Given the description of an element on the screen output the (x, y) to click on. 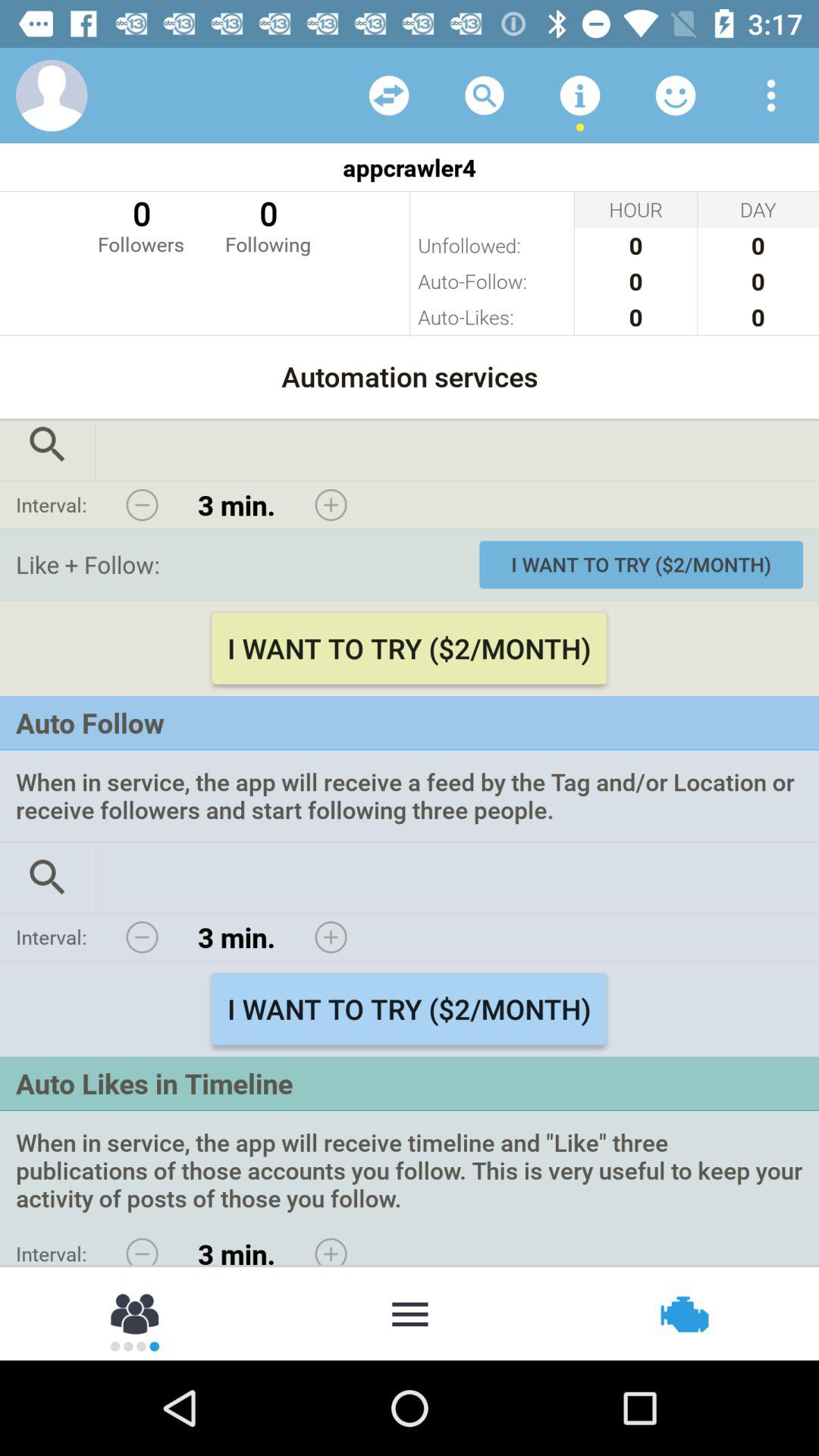
open profile (51, 95)
